Given the description of an element on the screen output the (x, y) to click on. 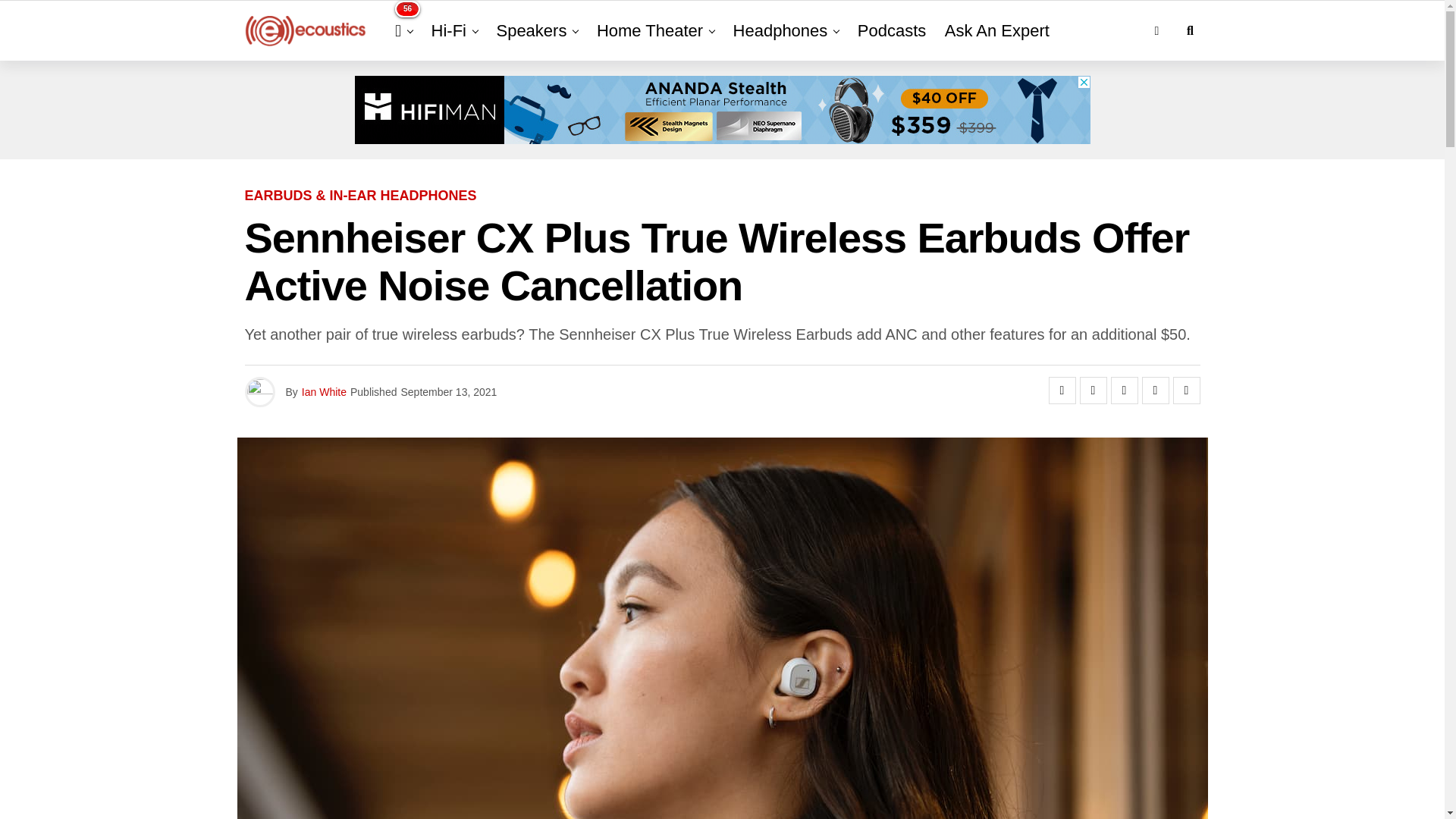
3rd party ad content (722, 110)
Share on Facebook (1061, 389)
Tweet This Post (1093, 389)
Posts by Ian White (323, 390)
